Given the description of an element on the screen output the (x, y) to click on. 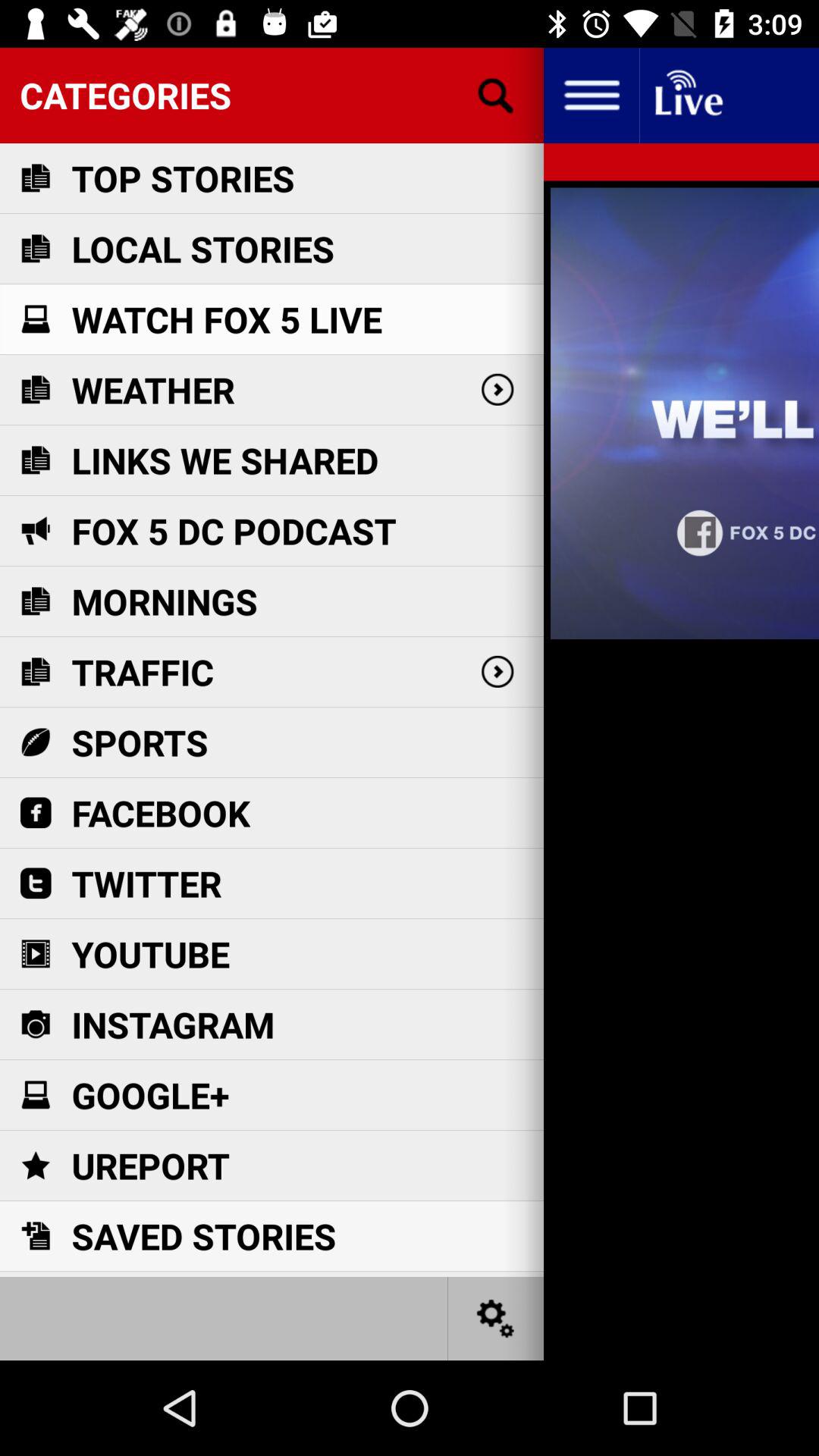
search (495, 95)
